Given the description of an element on the screen output the (x, y) to click on. 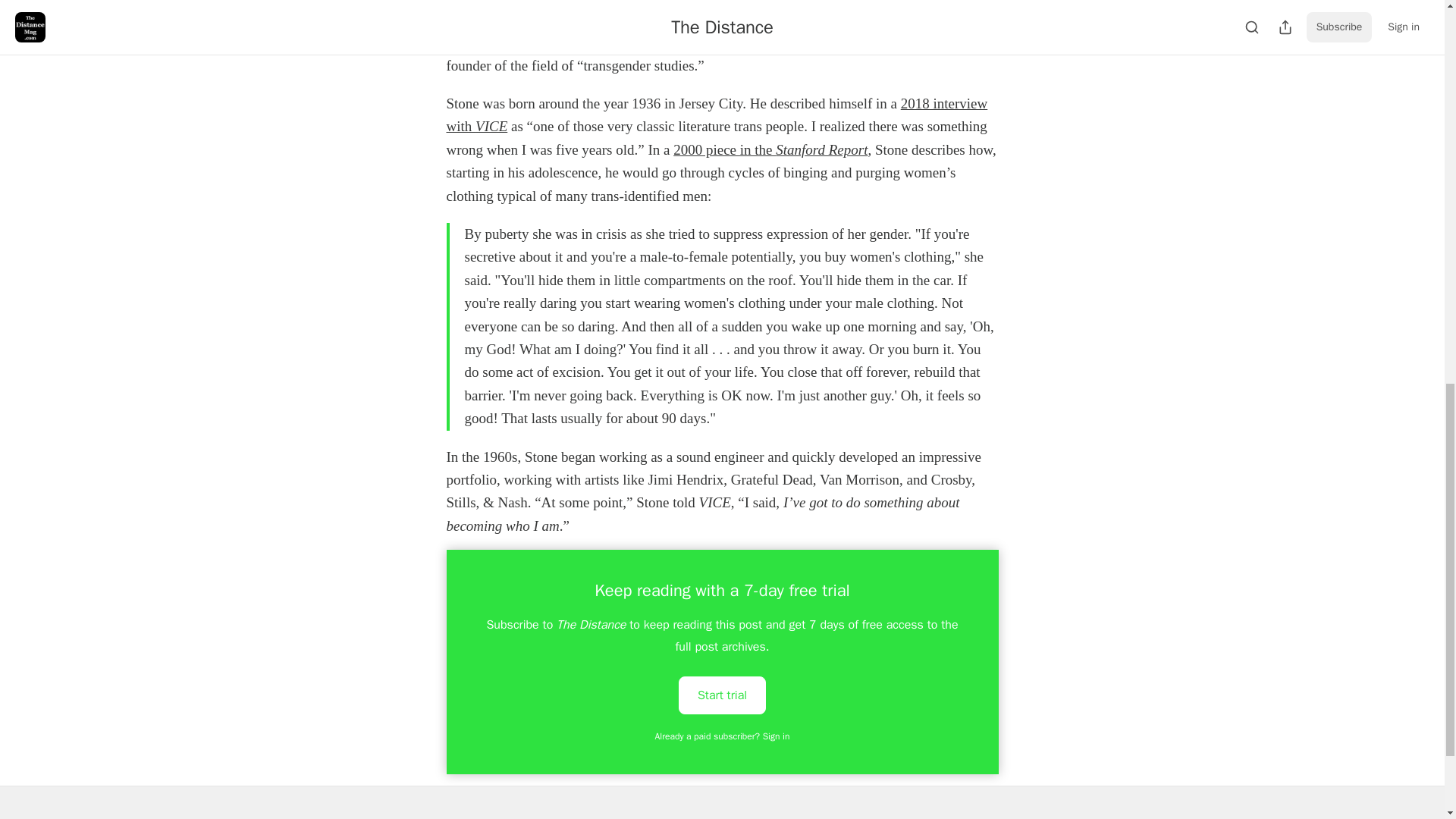
Already a paid subscriber? Sign in (722, 736)
2018 interview with (716, 114)
Stanford Report (821, 149)
Start trial (721, 694)
2000 piece in the (724, 149)
Terms (750, 818)
Privacy (710, 818)
VICE (491, 125)
Collection notice (812, 818)
Start trial (721, 695)
